Given the description of an element on the screen output the (x, y) to click on. 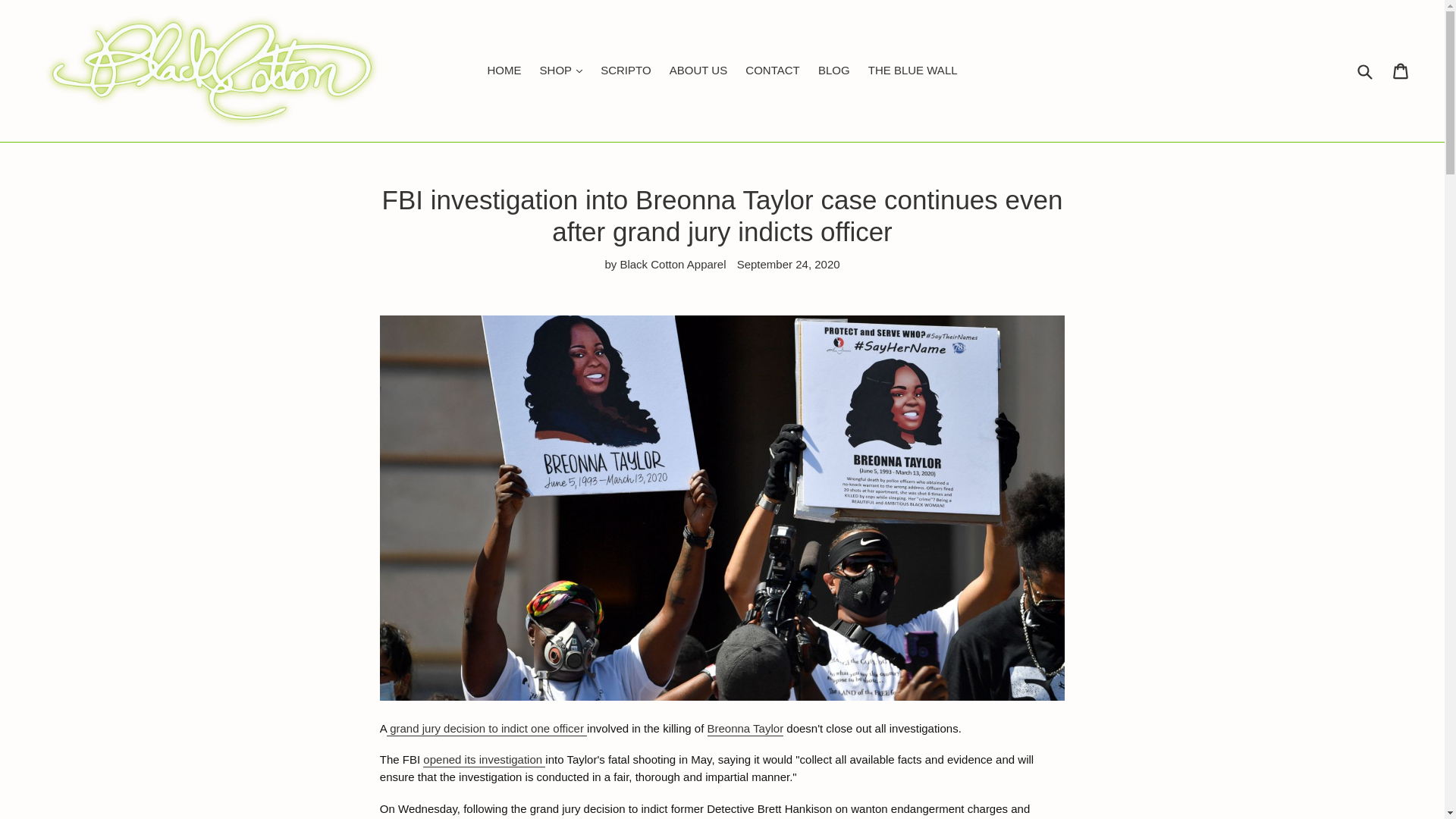
SCRIPTO (625, 70)
ABOUT US (698, 70)
CONTACT (772, 70)
HOME (503, 70)
opened its investigation  (483, 759)
THE BLUE WALL (912, 70)
Breonna Taylor (744, 728)
BLOG (833, 70)
 grand jury decision to indict one officer  (486, 728)
